Given the description of an element on the screen output the (x, y) to click on. 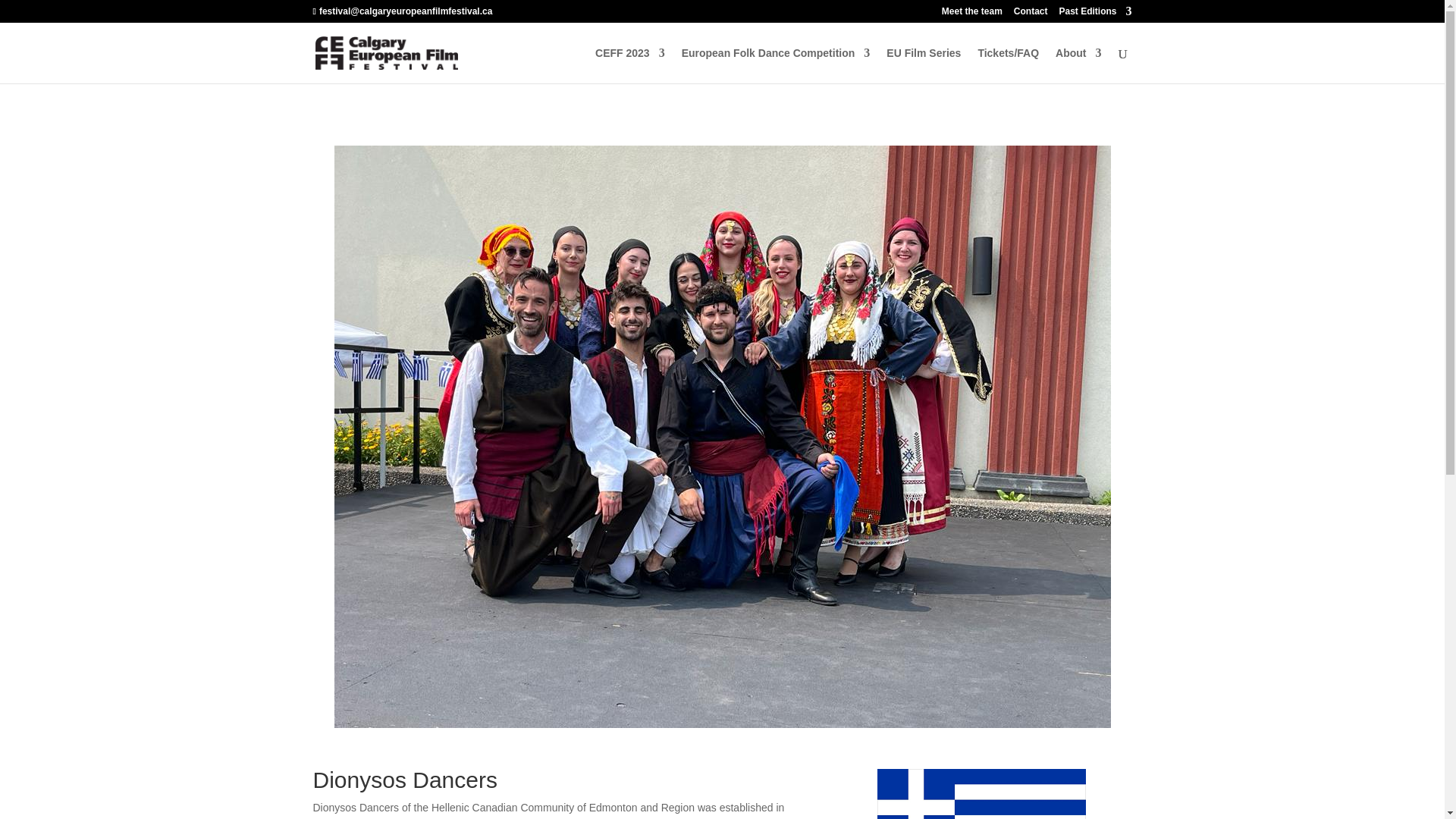
About (1077, 65)
Meet the team (972, 14)
Past Editions (1094, 14)
greek flag (981, 794)
CEFF 2023 (630, 65)
EU Film Series (923, 65)
European Folk Dance Competition (775, 65)
Contact (1030, 14)
